Given the description of an element on the screen output the (x, y) to click on. 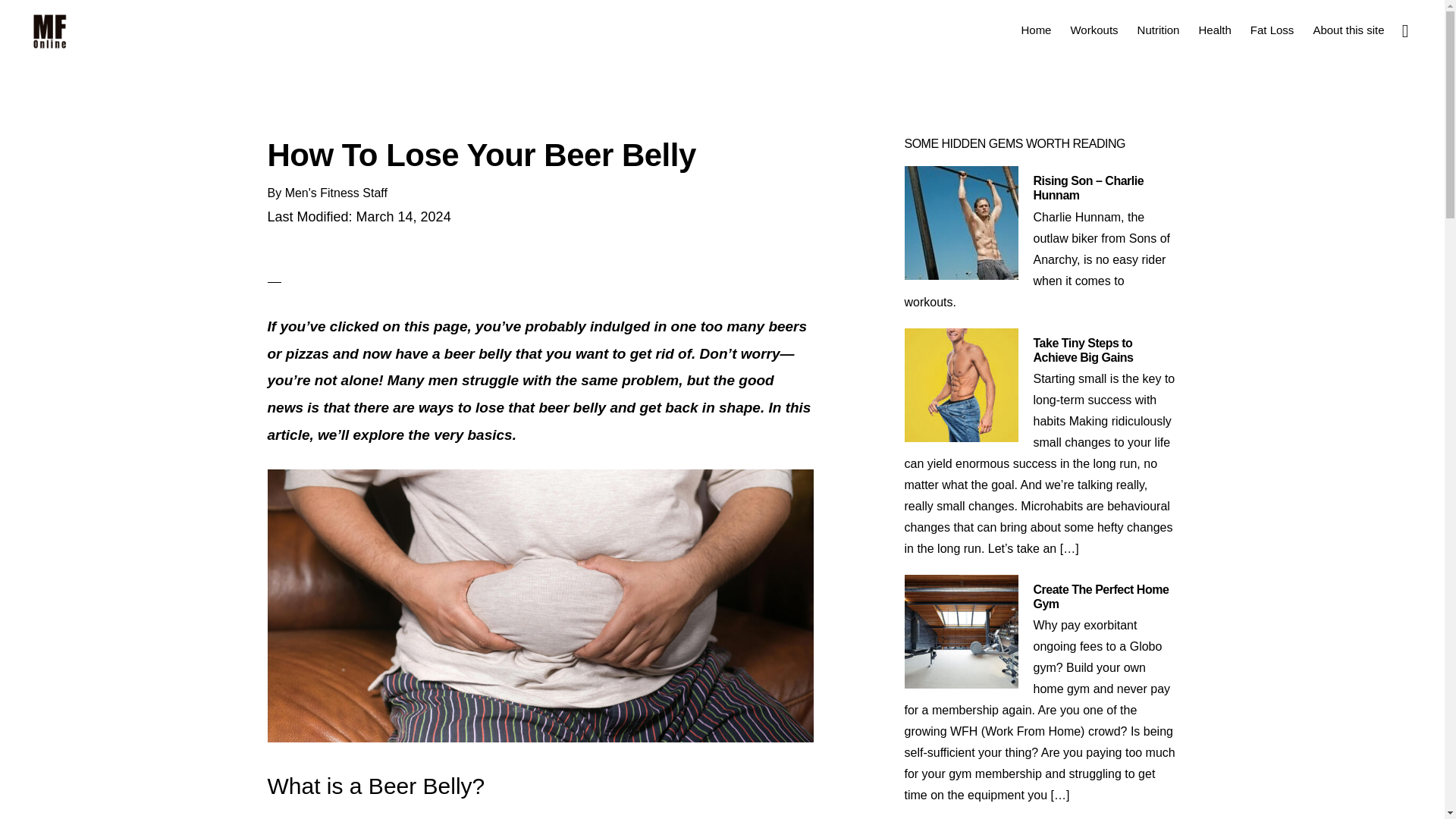
Contact Media Pty Ltd (753, 737)
Workouts (1093, 29)
Create The Perfect Home Gym (1100, 596)
Fat Loss (1272, 29)
Health (1215, 29)
Take Tiny Steps to Achieve Big Gains (1082, 349)
Show Search (1404, 29)
Privacy Policy  (674, 748)
About this site (1347, 29)
Nutrition (1158, 29)
Home (1035, 29)
